Given the description of an element on the screen output the (x, y) to click on. 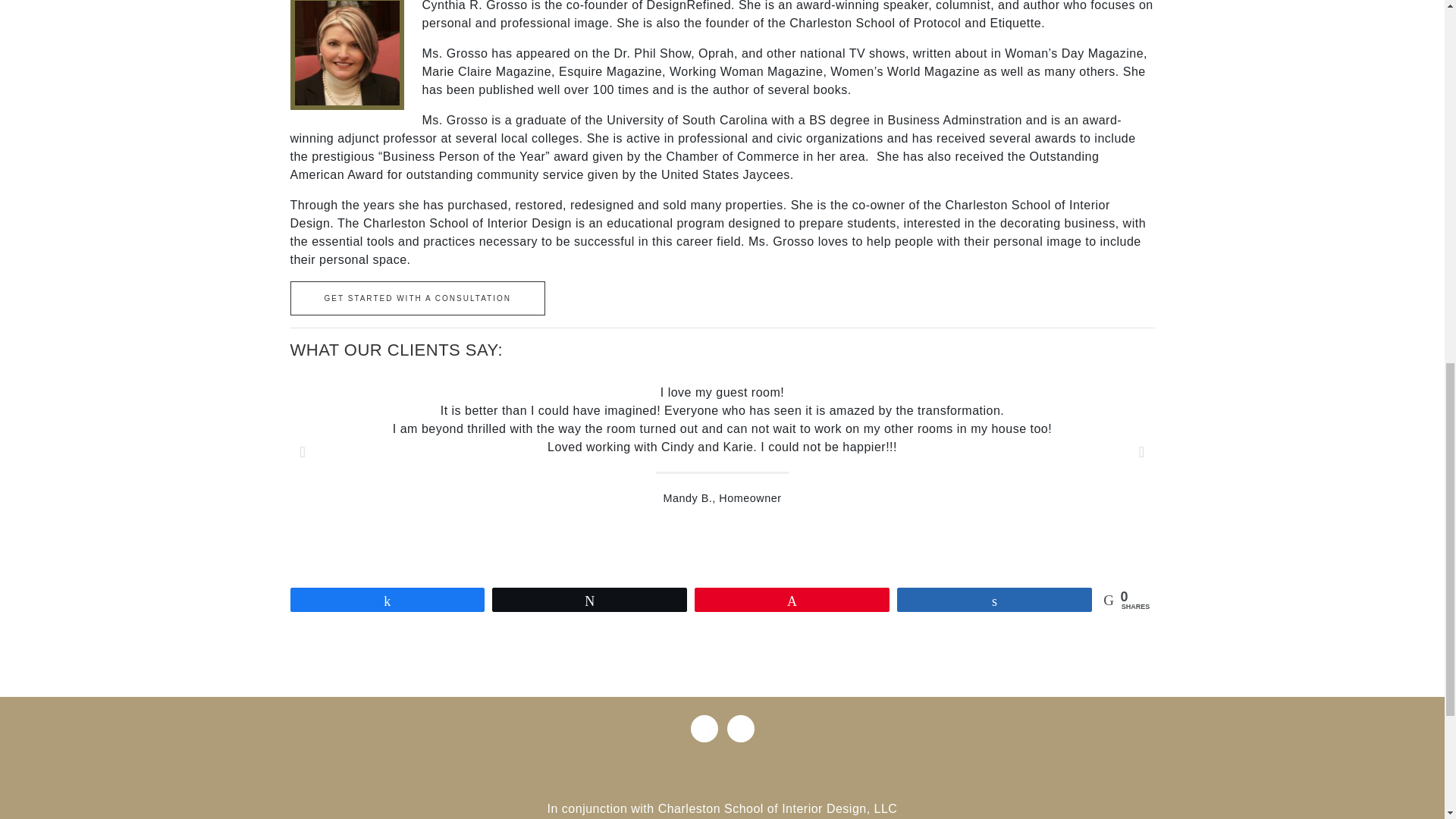
GET STARTED WITH A CONSULTATION (416, 298)
